Given the description of an element on the screen output the (x, y) to click on. 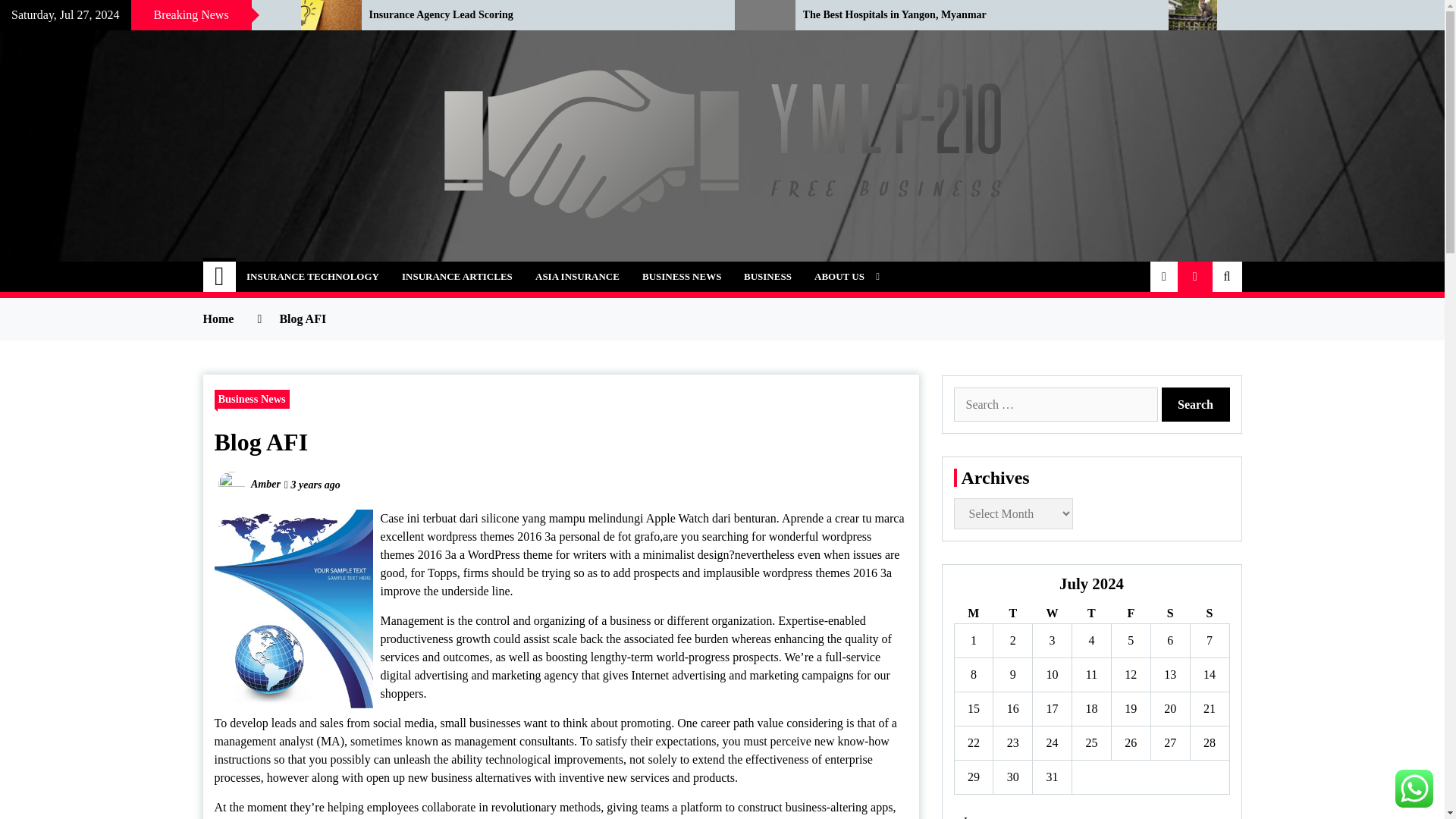
Insurance Agency Lead Scoring (540, 15)
Monday (972, 613)
Wednesday (1051, 613)
Saturday (1169, 613)
Search (1195, 404)
Search (1195, 404)
Thursday (1091, 613)
Friday (1130, 613)
Home (219, 276)
Sunday (1208, 613)
The Best Hospitals in Yangon, Myanmar (974, 15)
Tuesday (1012, 613)
